Given the description of an element on the screen output the (x, y) to click on. 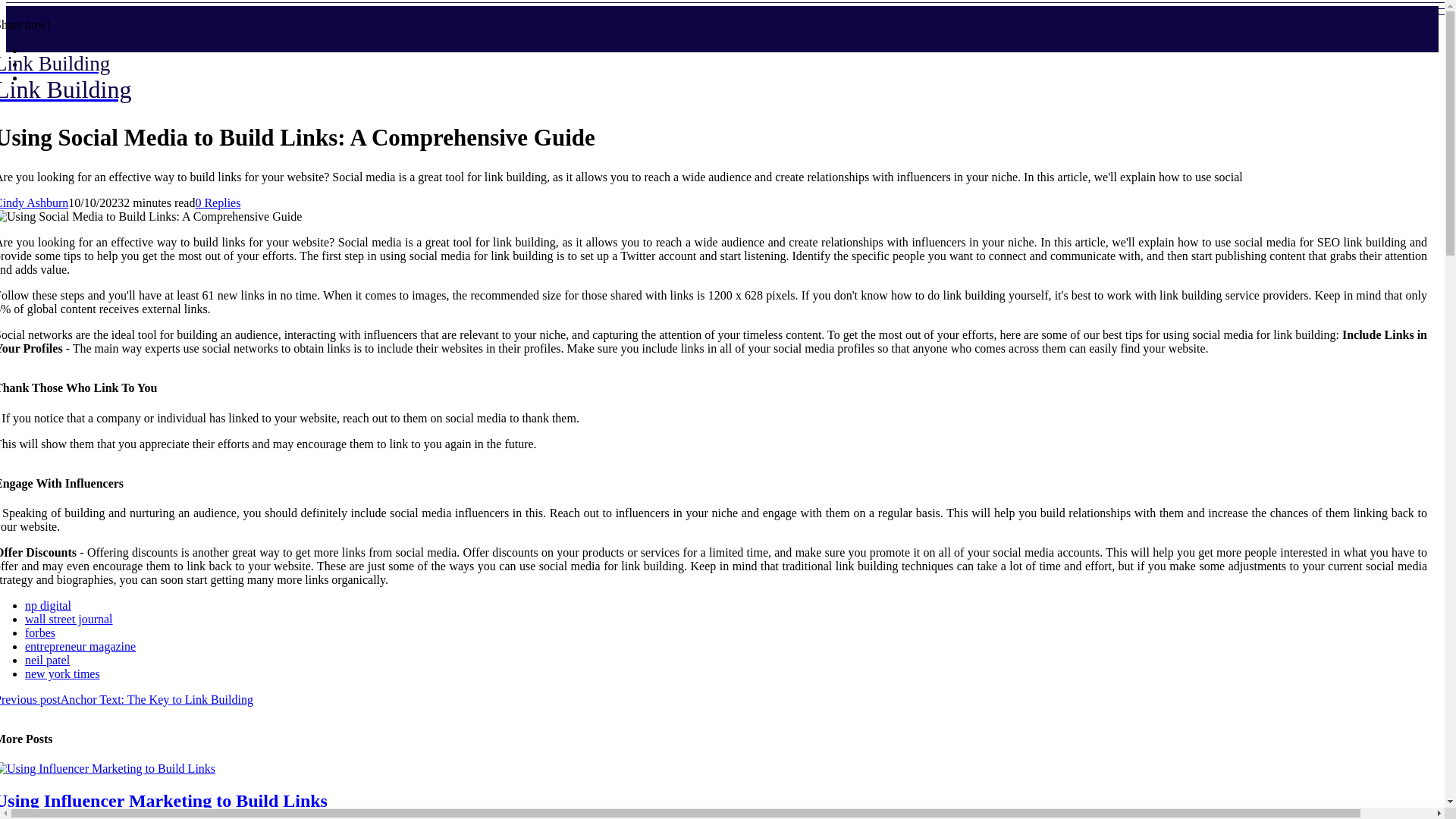
Posts by Cindy Ashburn (34, 202)
0 Replies (217, 202)
neil patel (46, 659)
Cindy Ashburn (34, 202)
new york times (62, 673)
forbes (39, 632)
Previous postAnchor Text: The Key to Link Building (126, 698)
wall street journal (68, 618)
entrepreneur magazine (65, 78)
